Given the description of an element on the screen output the (x, y) to click on. 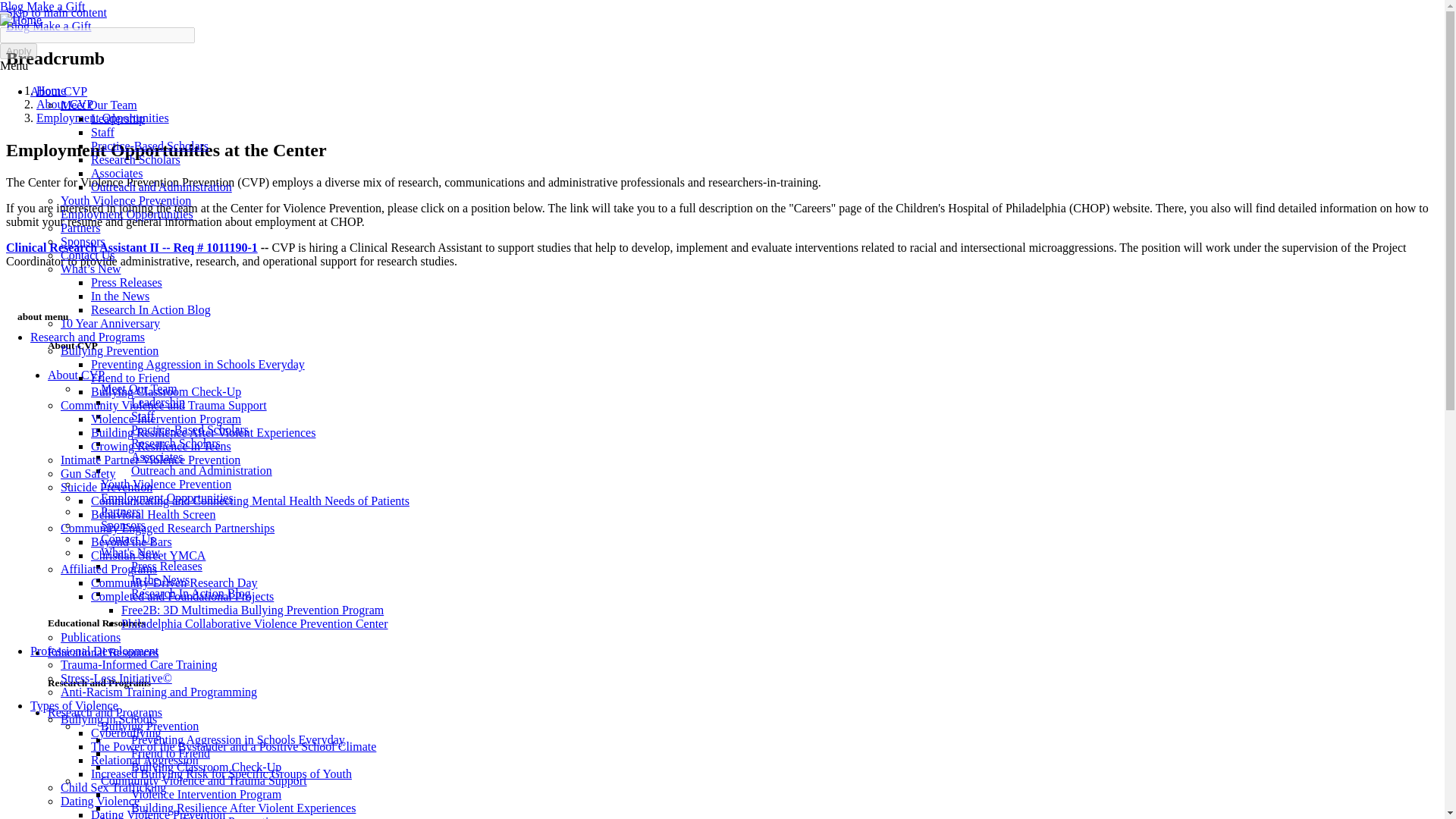
Community Violence and Trauma Support (163, 404)
Make a Gift (55, 6)
Youth Violence Prevention (125, 200)
About CVP (58, 91)
10 Year Anniversary (110, 323)
Research Scholars (135, 159)
Building Resilience After Violent Experiences (202, 431)
Make a Gift (61, 25)
In the News (119, 295)
Menu (13, 65)
